Given the description of an element on the screen output the (x, y) to click on. 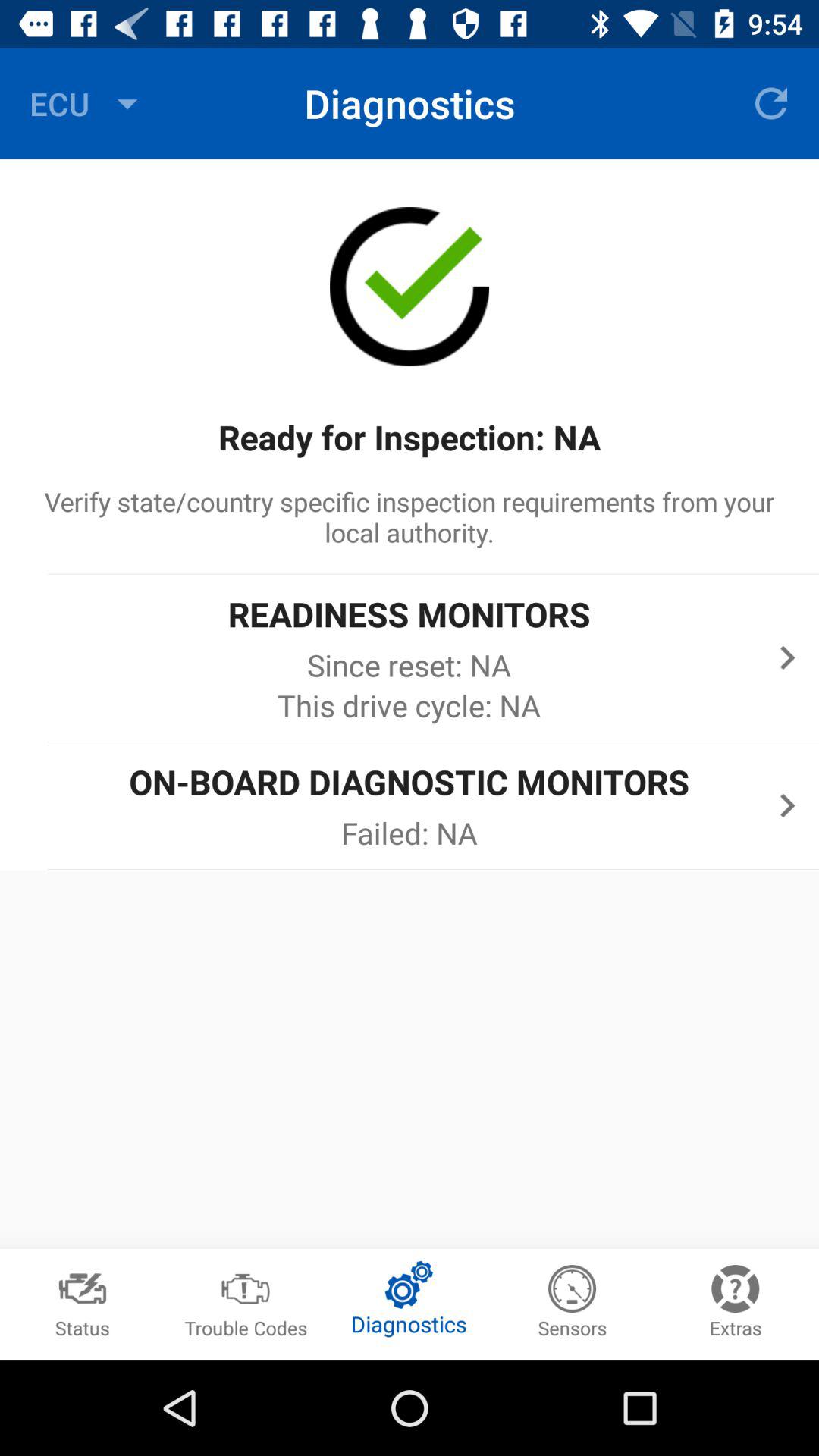
turn on the item to the right of the diagnostics icon (771, 103)
